Given the description of an element on the screen output the (x, y) to click on. 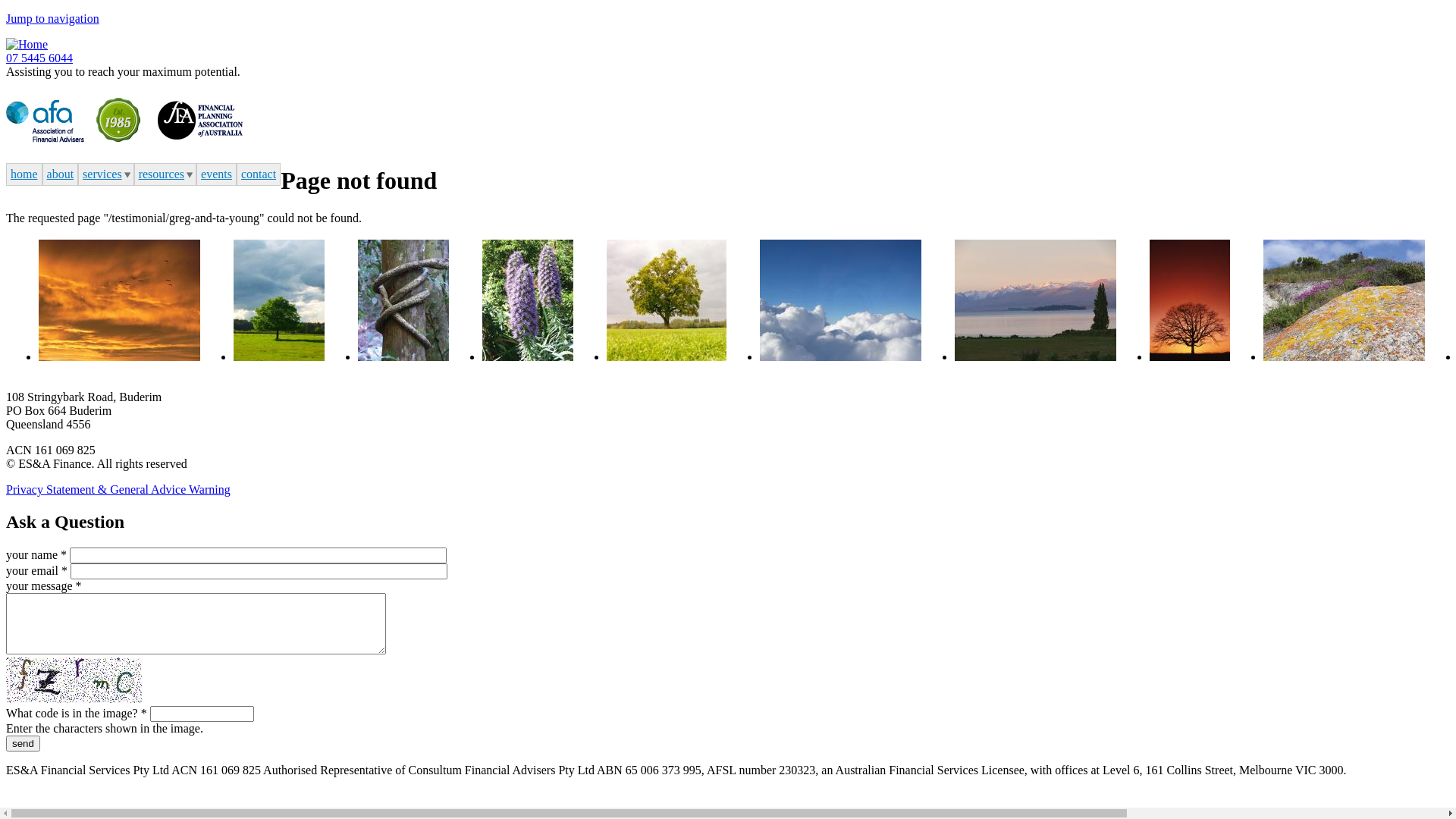
send Element type: text (23, 743)
07 5445 6044 Element type: text (39, 57)
about Element type: text (60, 174)
services Element type: text (105, 174)
Home Element type: hover (26, 43)
contact Element type: text (258, 174)
Jump to navigation Element type: text (52, 18)
resources Element type: text (164, 174)
events Element type: text (216, 174)
Image CAPTCHA Element type: hover (74, 679)
Privacy Statement & General Advice Warning Element type: text (118, 489)
home Element type: text (23, 174)
